Given the description of an element on the screen output the (x, y) to click on. 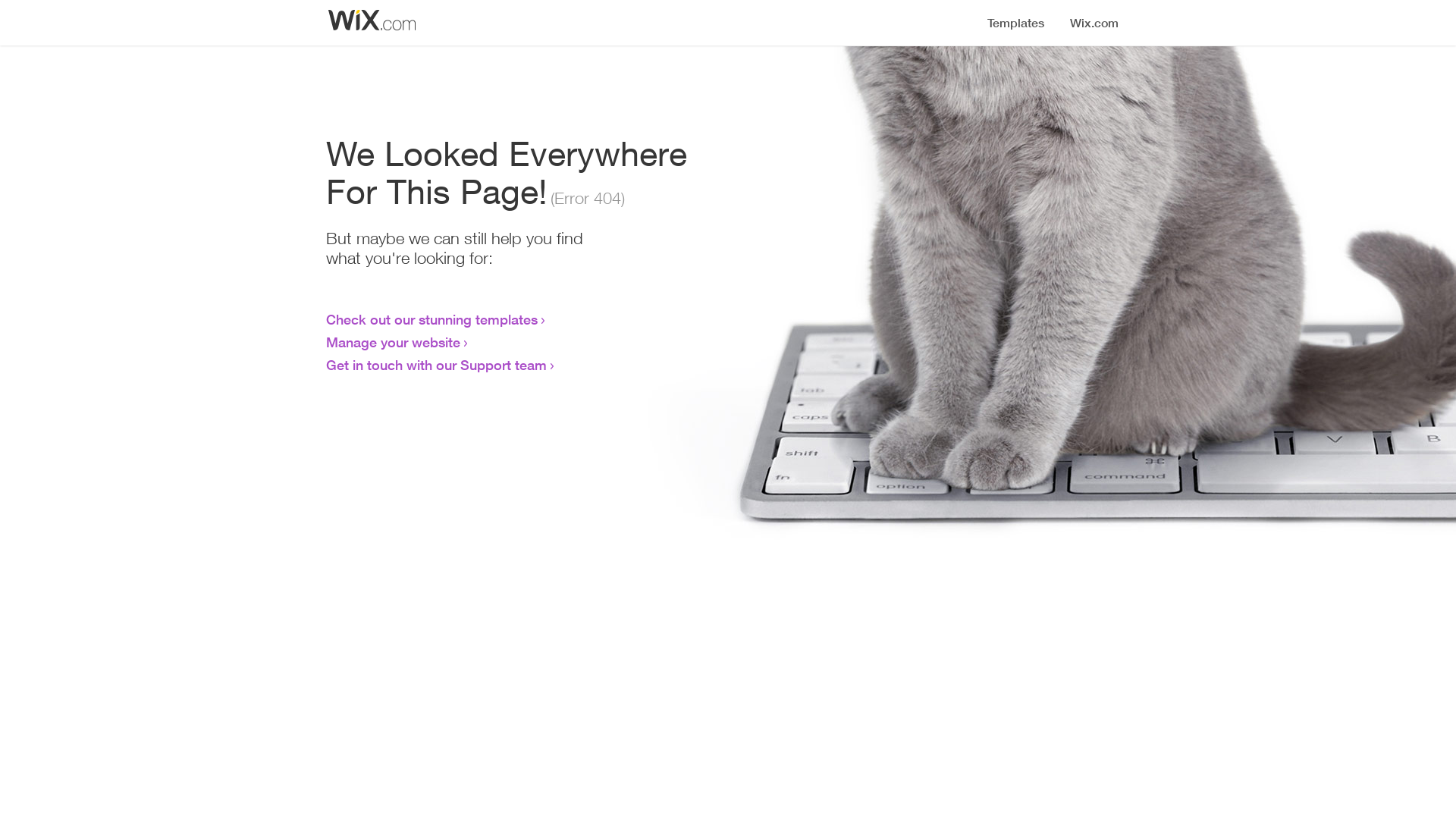
Get in touch with our Support team Element type: text (436, 364)
Check out our stunning templates Element type: text (431, 318)
Manage your website Element type: text (393, 341)
